Given the description of an element on the screen output the (x, y) to click on. 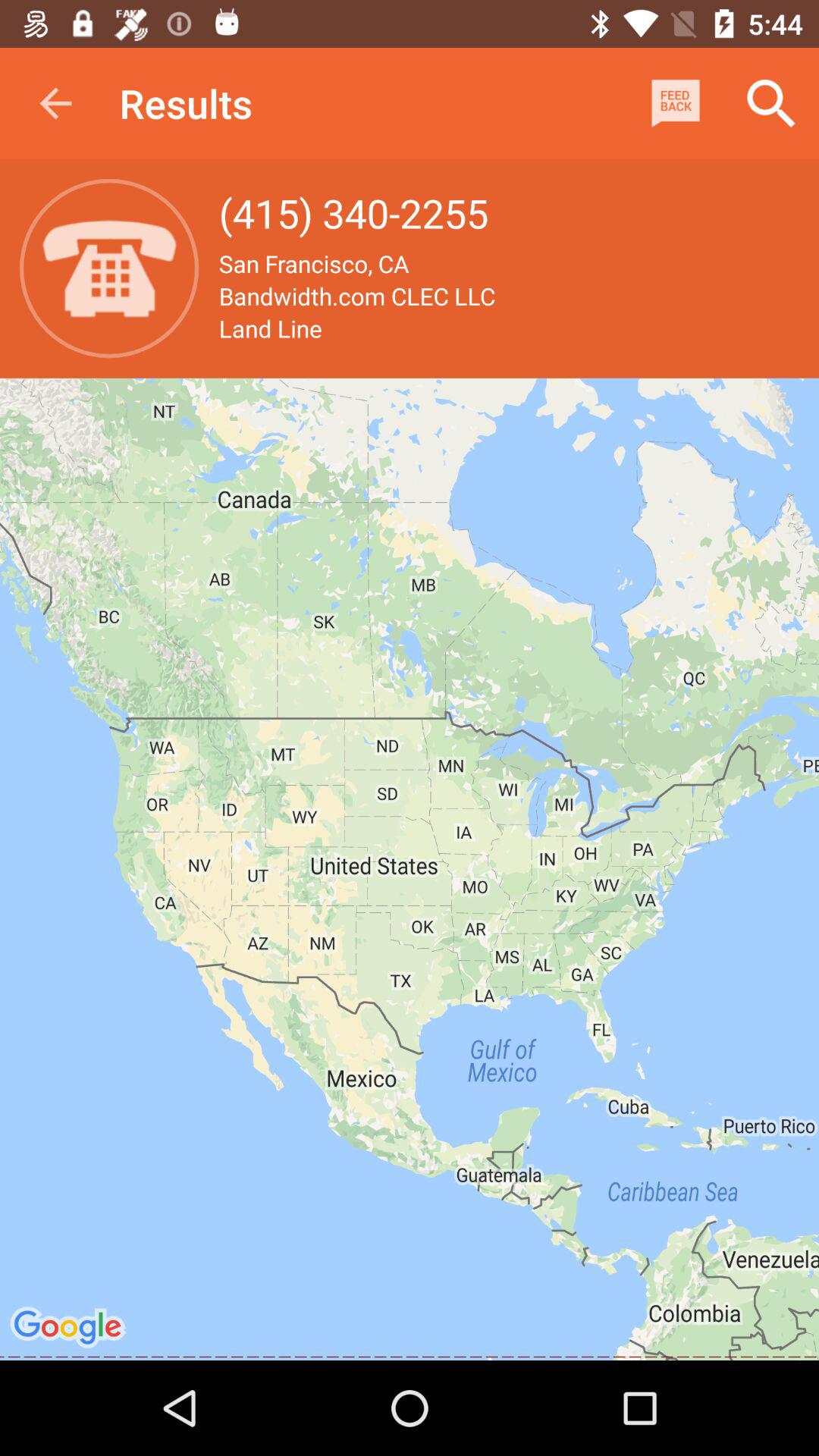
turn off app above bandwidth com clec item (675, 103)
